Given the description of an element on the screen output the (x, y) to click on. 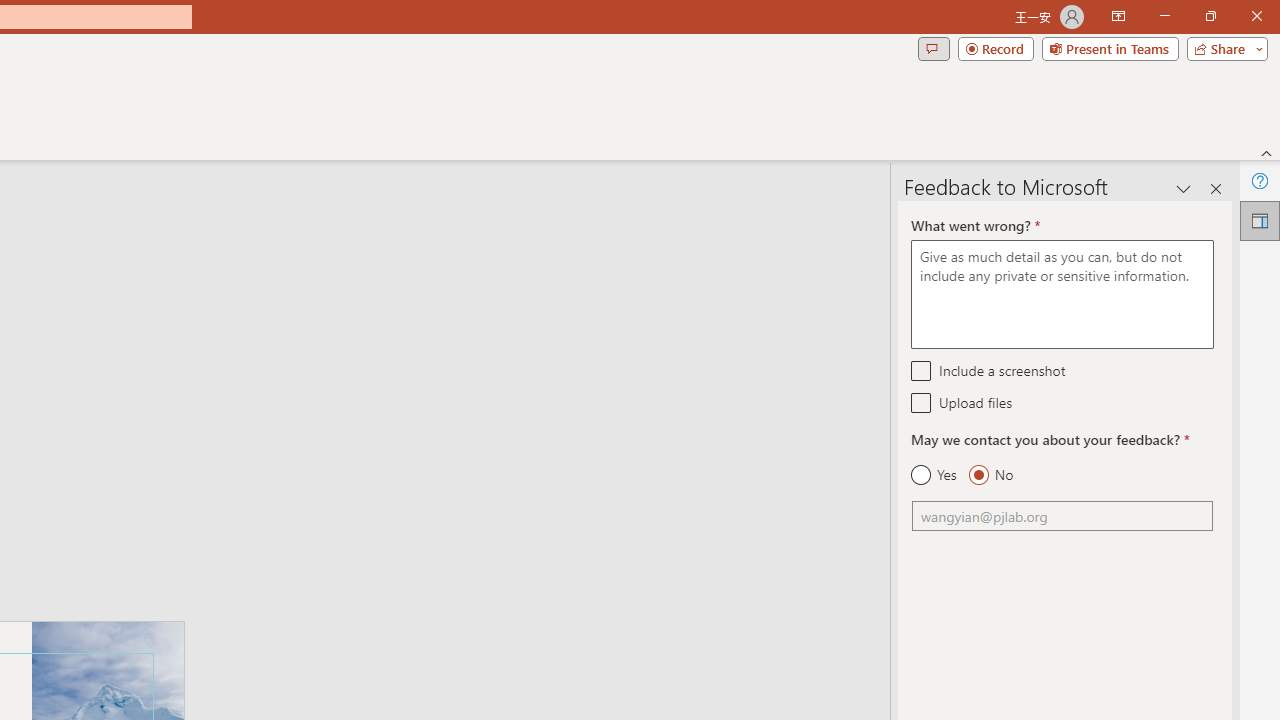
No (990, 475)
Email (1062, 516)
Yes (934, 475)
Include a screenshot (921, 370)
What went wrong? * (1062, 294)
Upload files (921, 402)
Feedback to Microsoft (1260, 220)
